Given the description of an element on the screen output the (x, y) to click on. 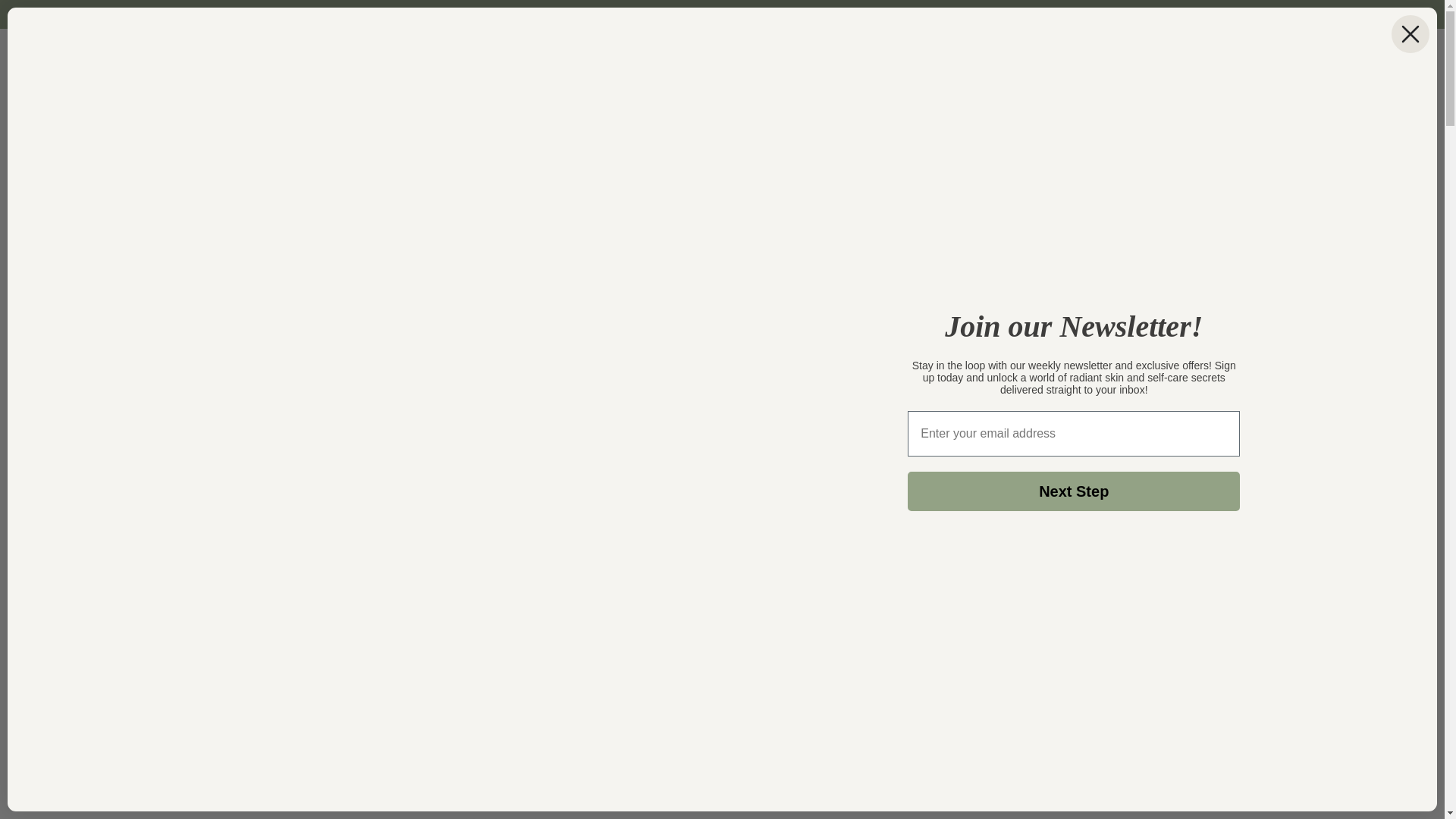
Savings (461, 60)
Skip to content (46, 18)
About (408, 60)
Treatments (302, 60)
Savings (461, 60)
Book Now (650, 60)
Book Now (650, 60)
Log in (1243, 60)
Share (721, 490)
Shop (362, 60)
Education (524, 60)
Education (524, 60)
About (408, 60)
Visit Us (587, 60)
Cart (1277, 60)
